Given the description of an element on the screen output the (x, y) to click on. 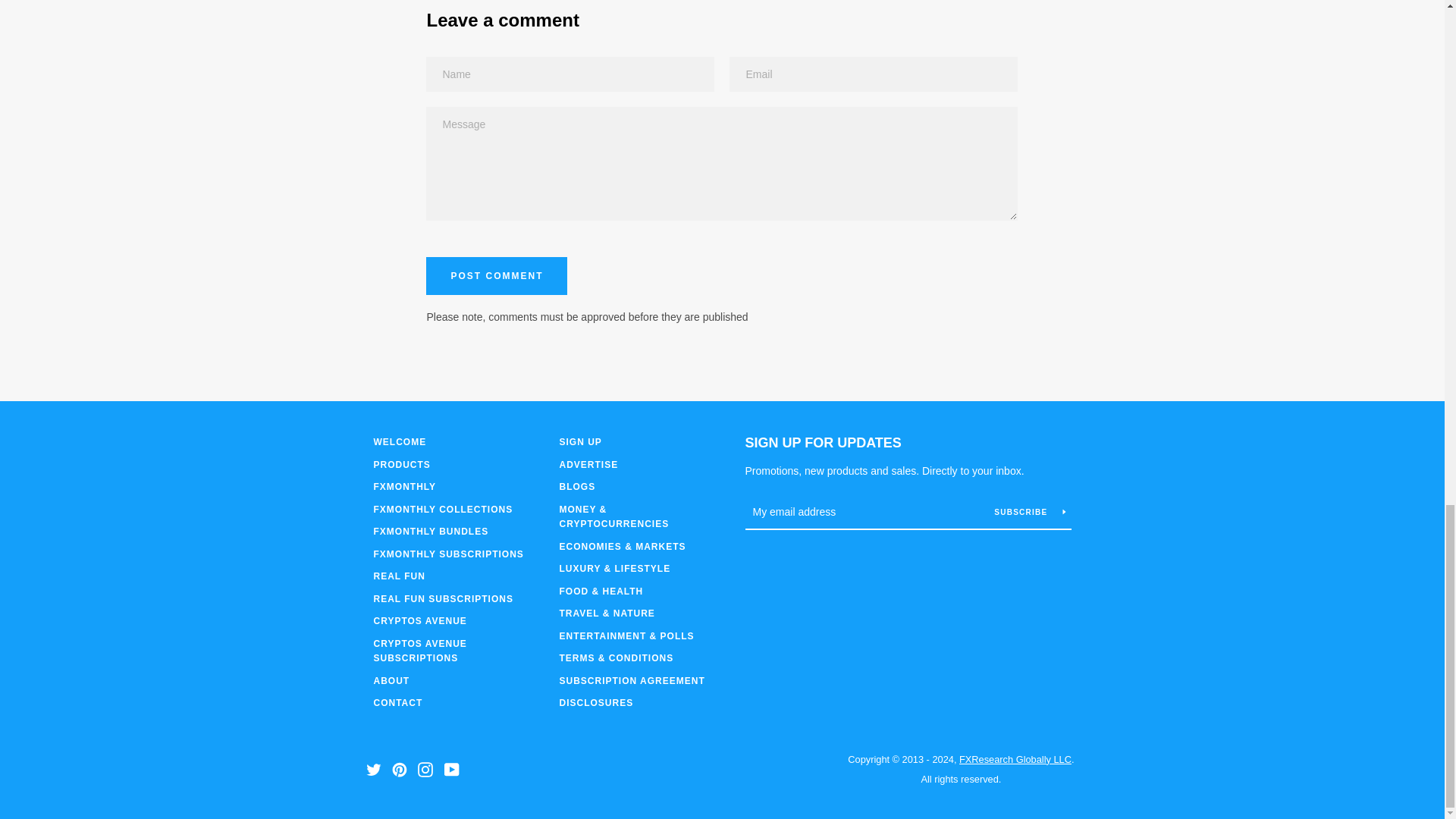
Post comment (496, 275)
FXResearch Globally on Instagram (424, 768)
FXResearch Globally on Twitter (372, 768)
FXResearch Globally on YouTube (452, 768)
FXResearch Globally on Pinterest (399, 768)
